Given the description of an element on the screen output the (x, y) to click on. 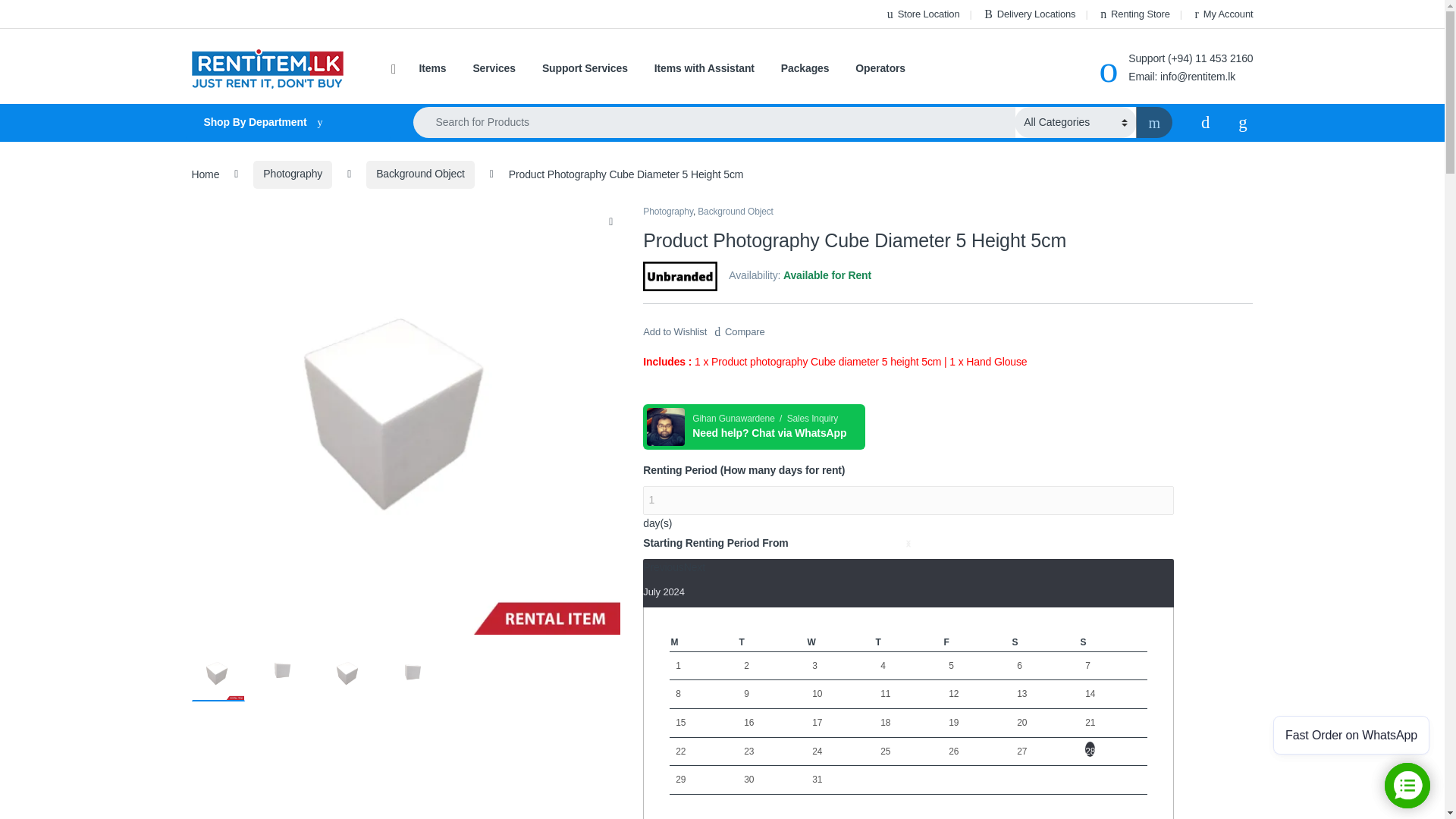
Renting Store (1133, 13)
 Renting Store (1133, 13)
Store Location (921, 13)
 Delivery Locations (1028, 13)
Operators (880, 68)
1 (908, 500)
Support Services (584, 68)
Items with Assistant (703, 68)
My Account (1222, 13)
 Store Location (921, 13)
Packages (804, 68)
 My Account (1222, 13)
Services (493, 68)
Shop By Department (287, 122)
Delivery Locations (1028, 13)
